Given the description of an element on the screen output the (x, y) to click on. 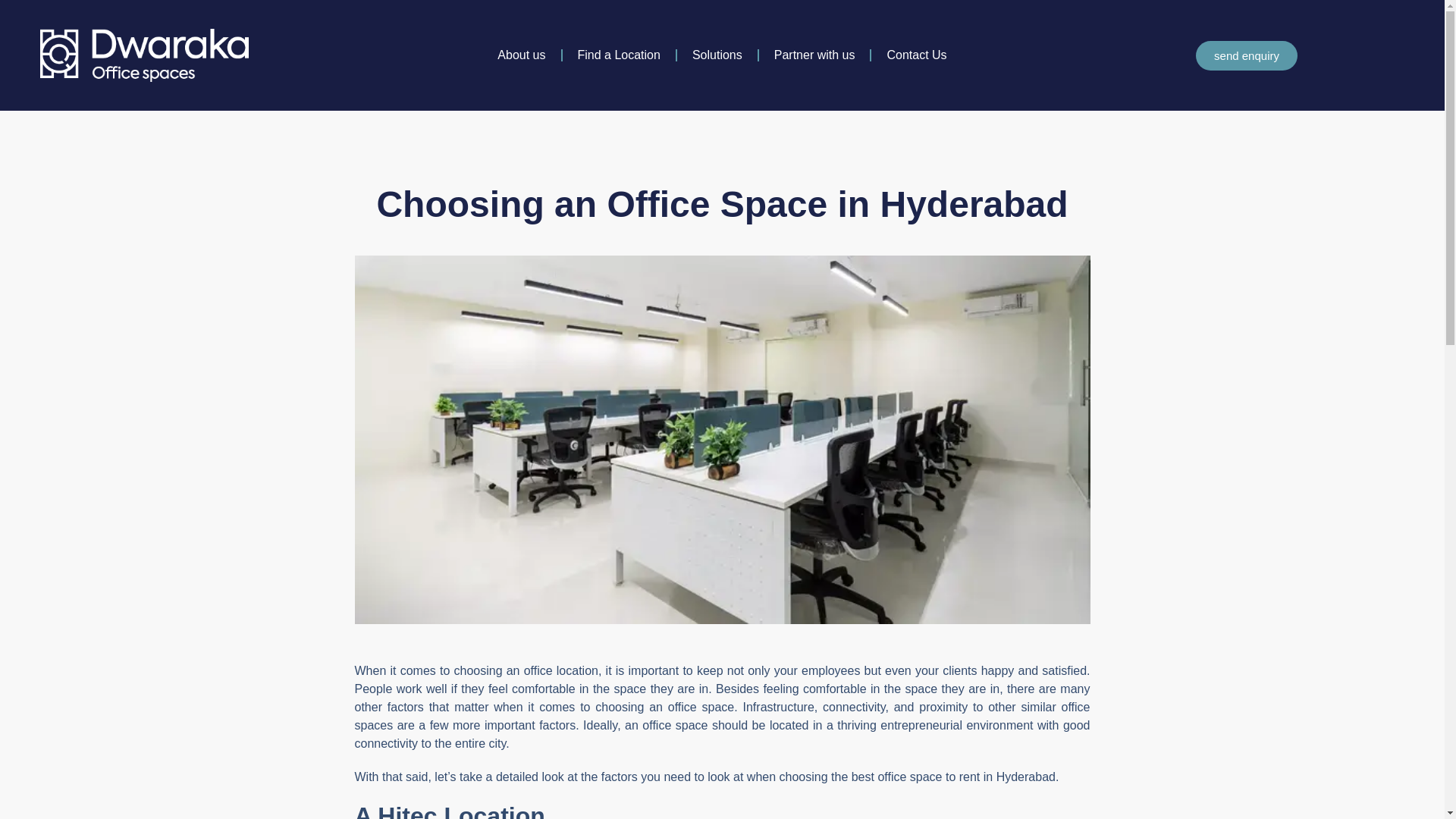
Find a Location (618, 54)
Contact Us (915, 54)
Solutions (717, 54)
Partner with us (814, 54)
About us (520, 54)
send enquiry (1246, 55)
